Given the description of an element on the screen output the (x, y) to click on. 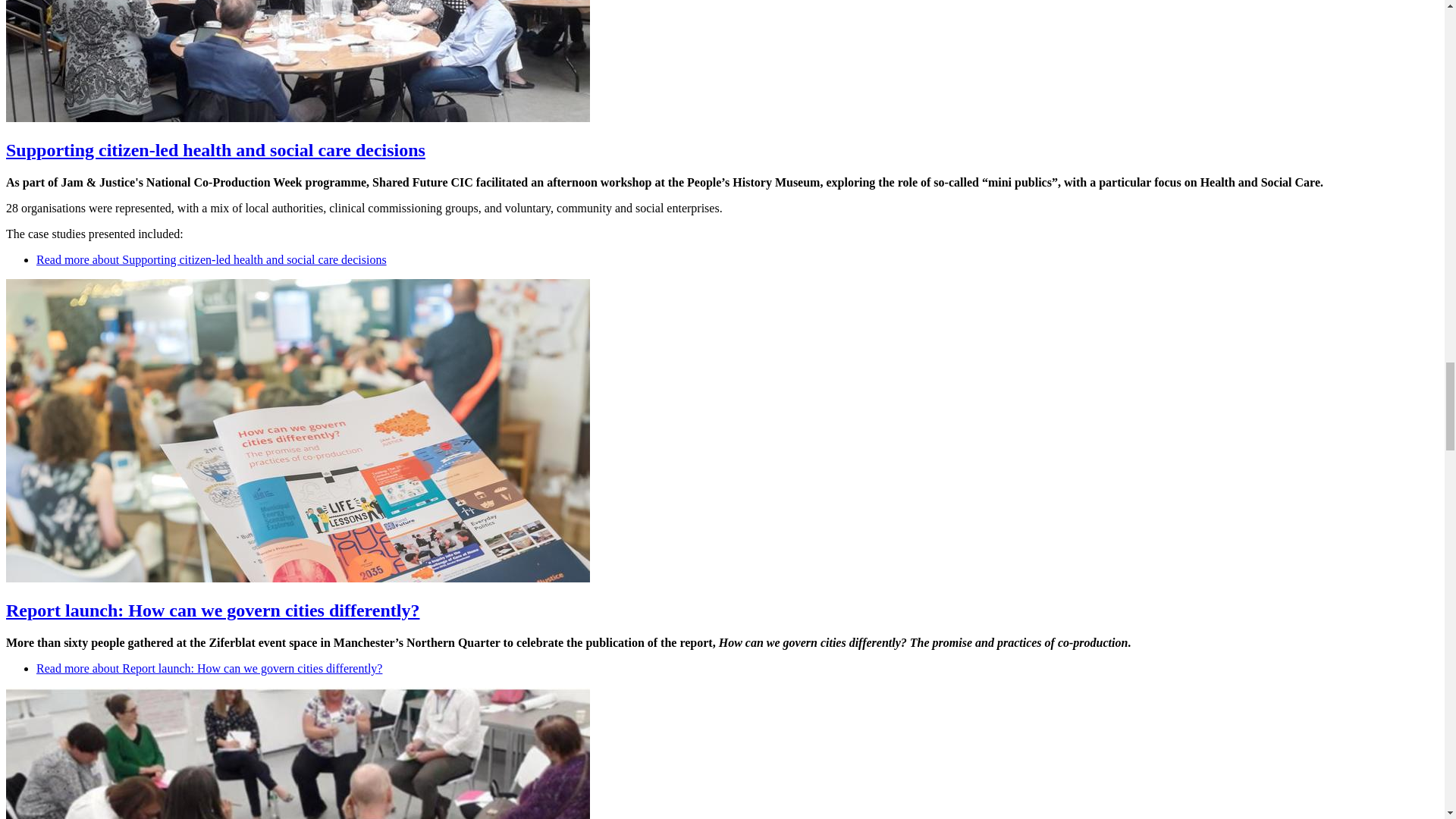
Supporting citizen-led health and social care decisions (215, 149)
Report launch: How can we govern cities differently? (212, 609)
Supporting citizen-led health and social care decisions (211, 259)
Report launch: How can we govern cities differently? (208, 667)
